Given the description of an element on the screen output the (x, y) to click on. 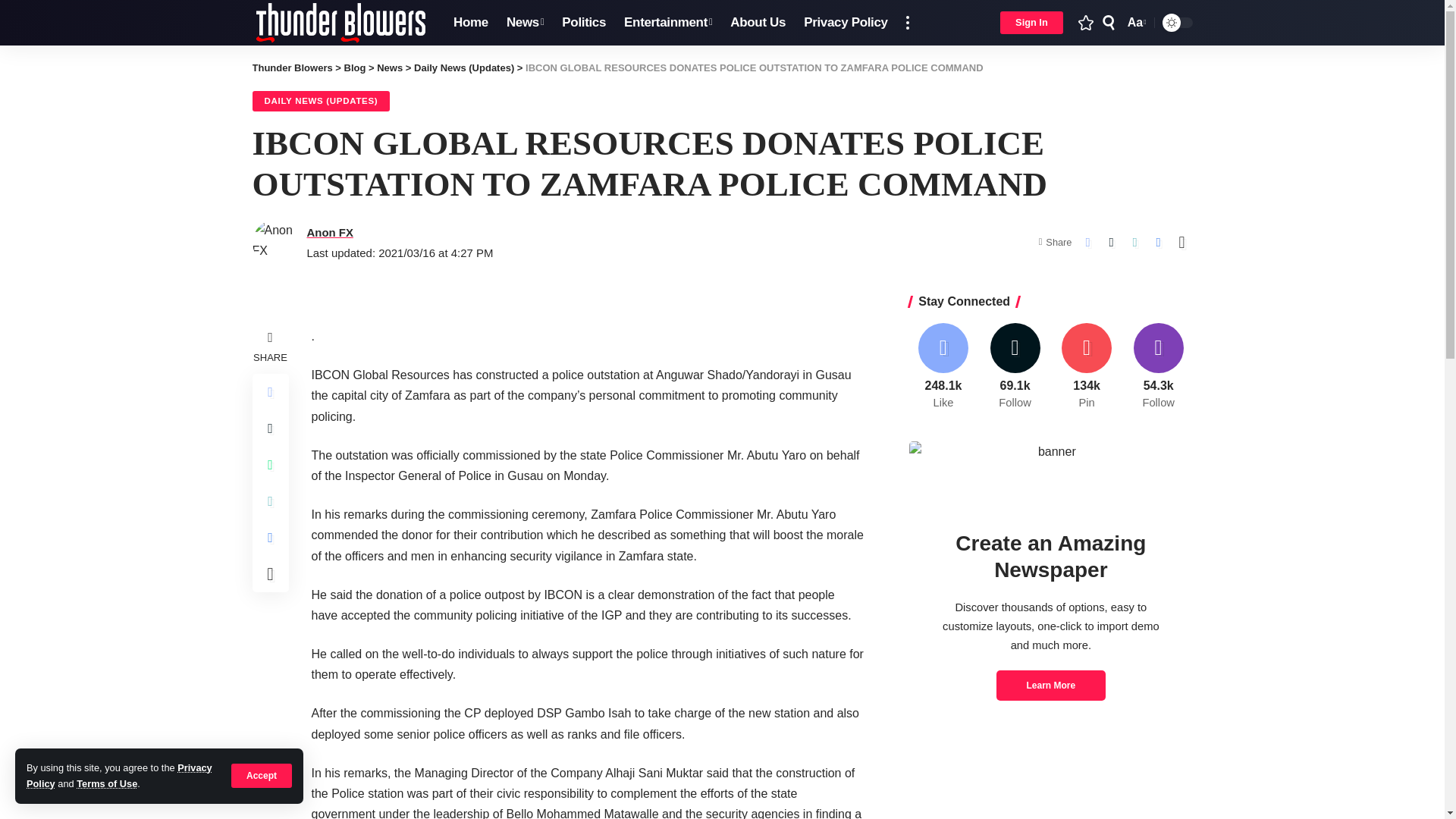
Sign In (1031, 22)
Accept (261, 775)
Thunder Blowers (340, 22)
About Us (757, 22)
Entertainment (667, 22)
Privacy Policy (1135, 22)
Go to the News Category archives. (845, 22)
Home (390, 67)
Privacy Policy (470, 22)
Go to Thunder Blowers. (119, 775)
Politics (291, 67)
Go to Blog. (583, 22)
News (354, 67)
Terms of Use (525, 22)
